Given the description of an element on the screen output the (x, y) to click on. 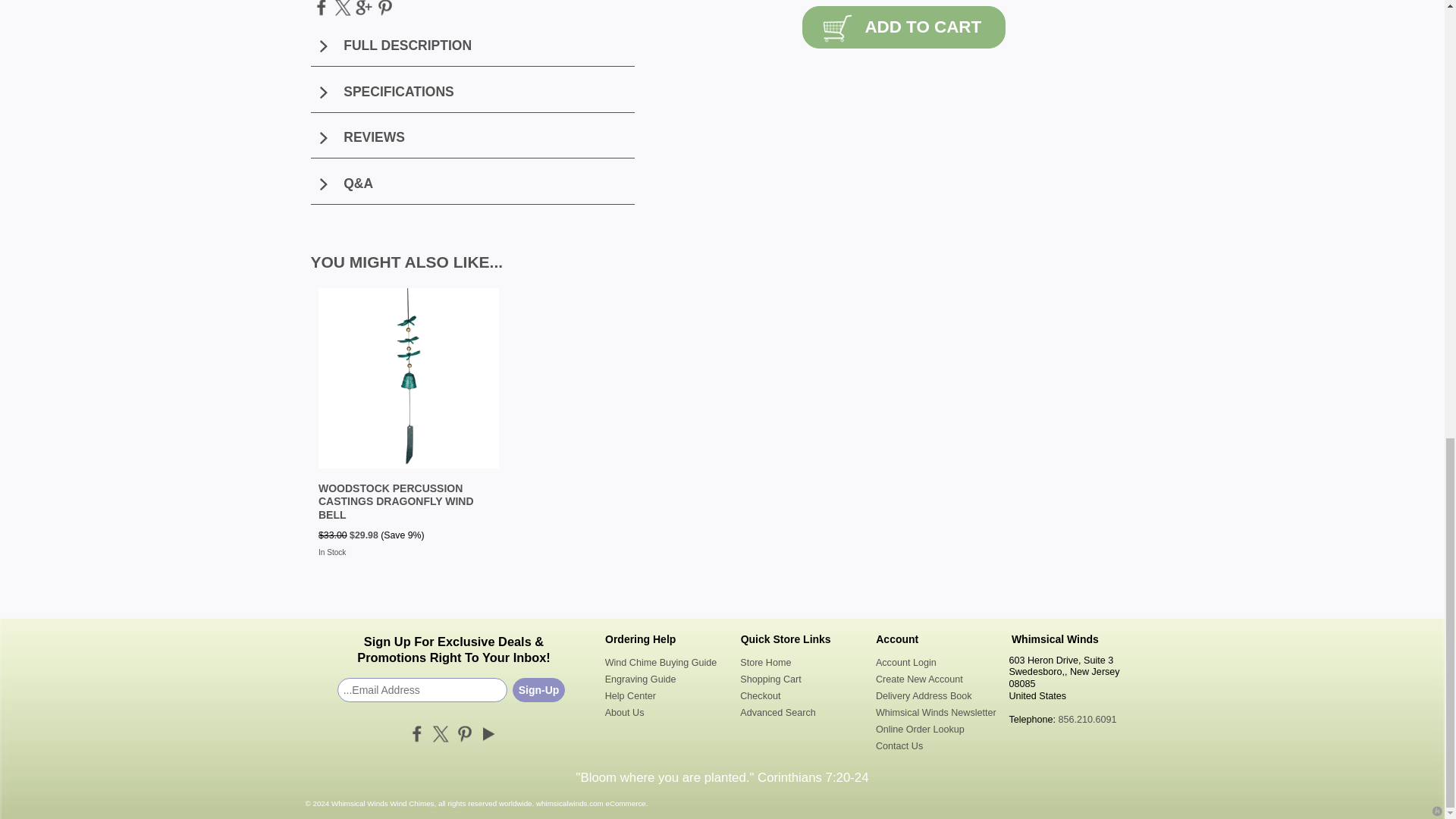
Woodstock Percussion Castings Dragonfly Wind Bell (396, 501)
WOODSTOCK PERCUSSION CASTINGS DRAGONFLY WIND BELL (396, 501)
Sign-Up (539, 689)
About Us (665, 713)
Add to Cart (904, 26)
Facebook (417, 733)
Pinterest (463, 733)
Add to Cart (904, 26)
Help Center (665, 696)
Wind Chime Buying Guide (665, 663)
Engraving Guide (665, 679)
Woodstock Percussion Castings Dragonfly Wind Bell (408, 378)
Twitter (440, 733)
Youtube (488, 733)
